Given the description of an element on the screen output the (x, y) to click on. 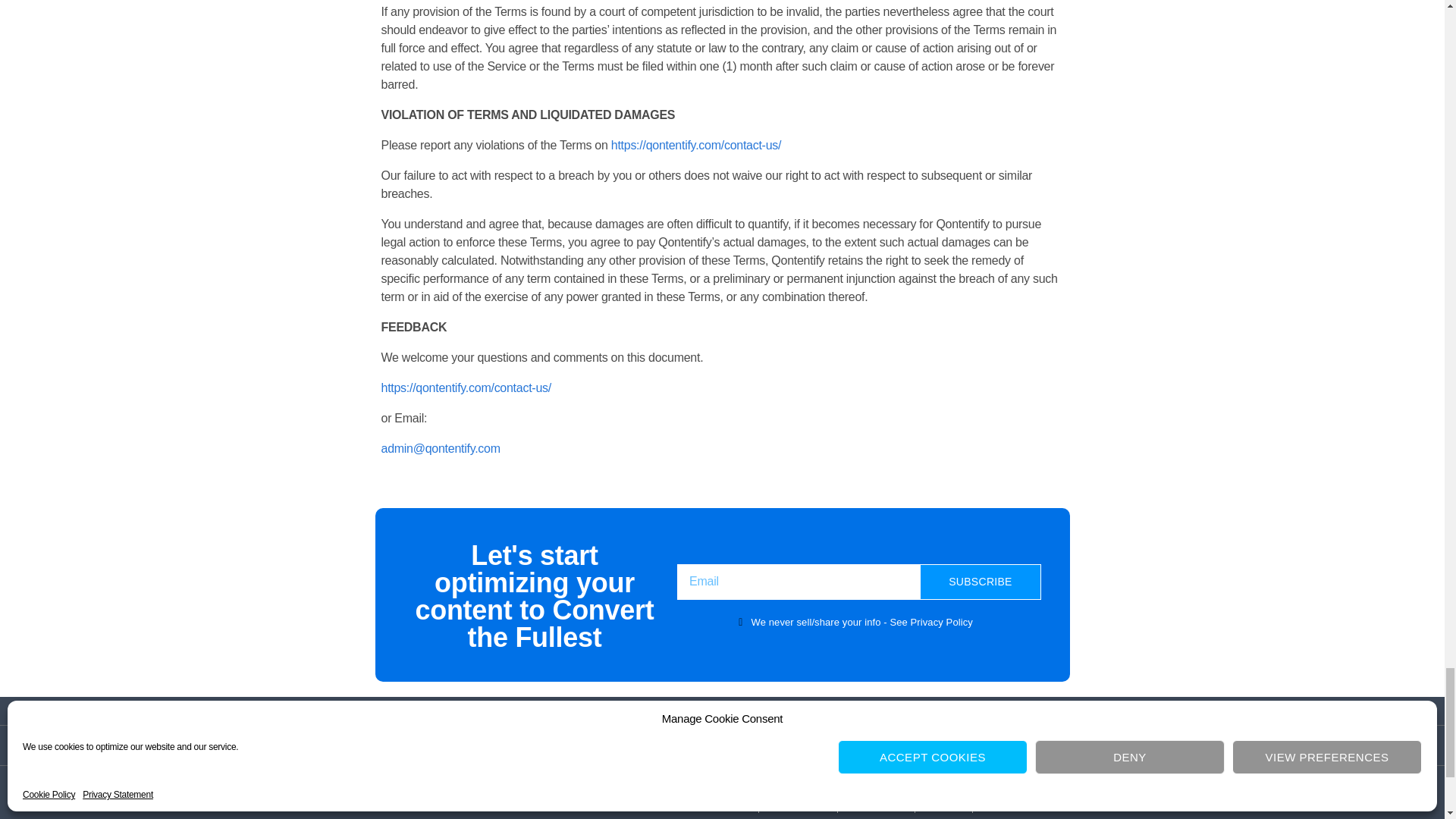
Services (875, 804)
Blog (943, 804)
Contact us (721, 745)
HEO (1002, 804)
SUBSCRIBE (980, 581)
Home (725, 804)
About us (797, 804)
